Given the description of an element on the screen output the (x, y) to click on. 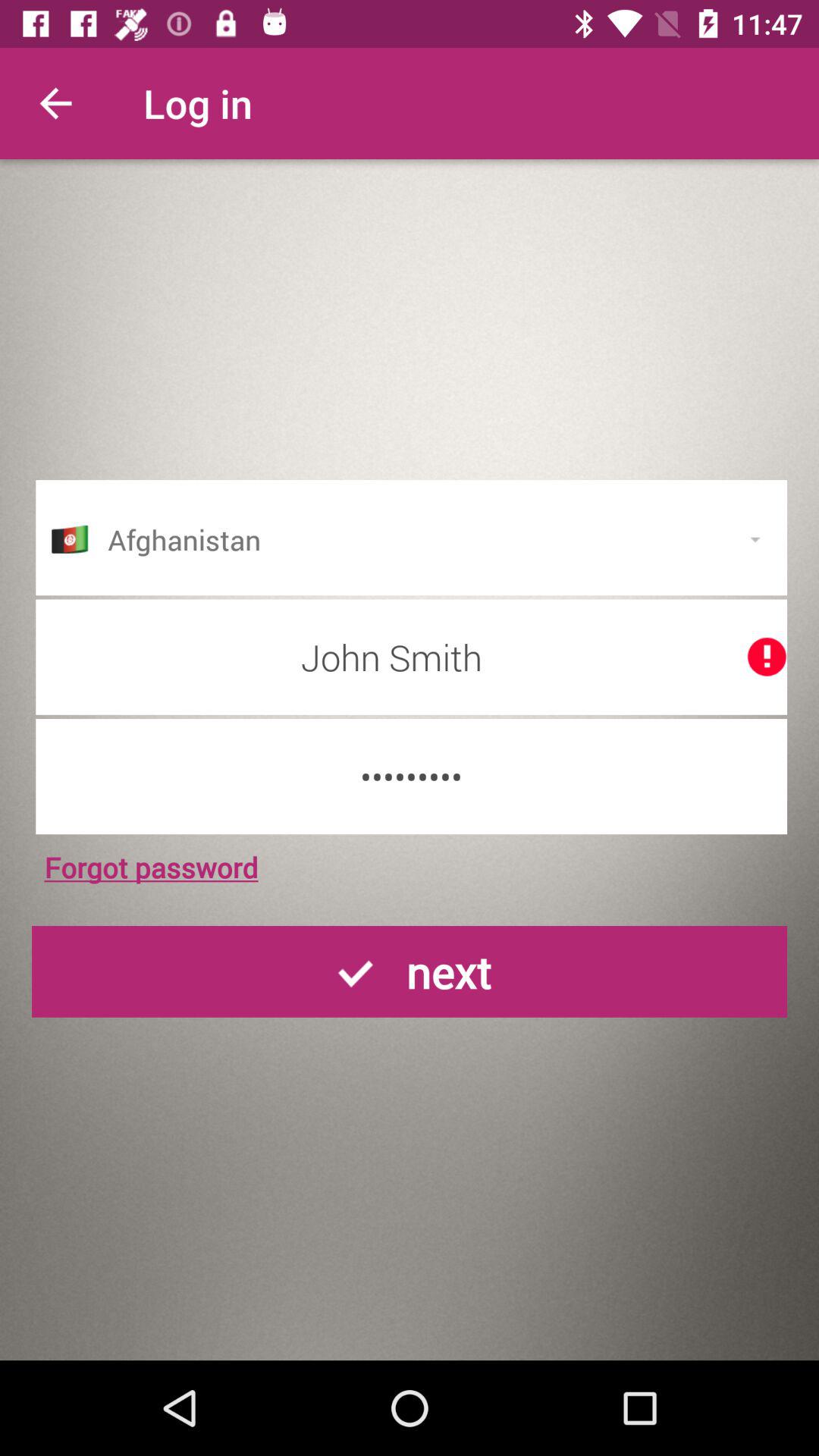
turn off item above the forgot password (411, 776)
